Given the description of an element on the screen output the (x, y) to click on. 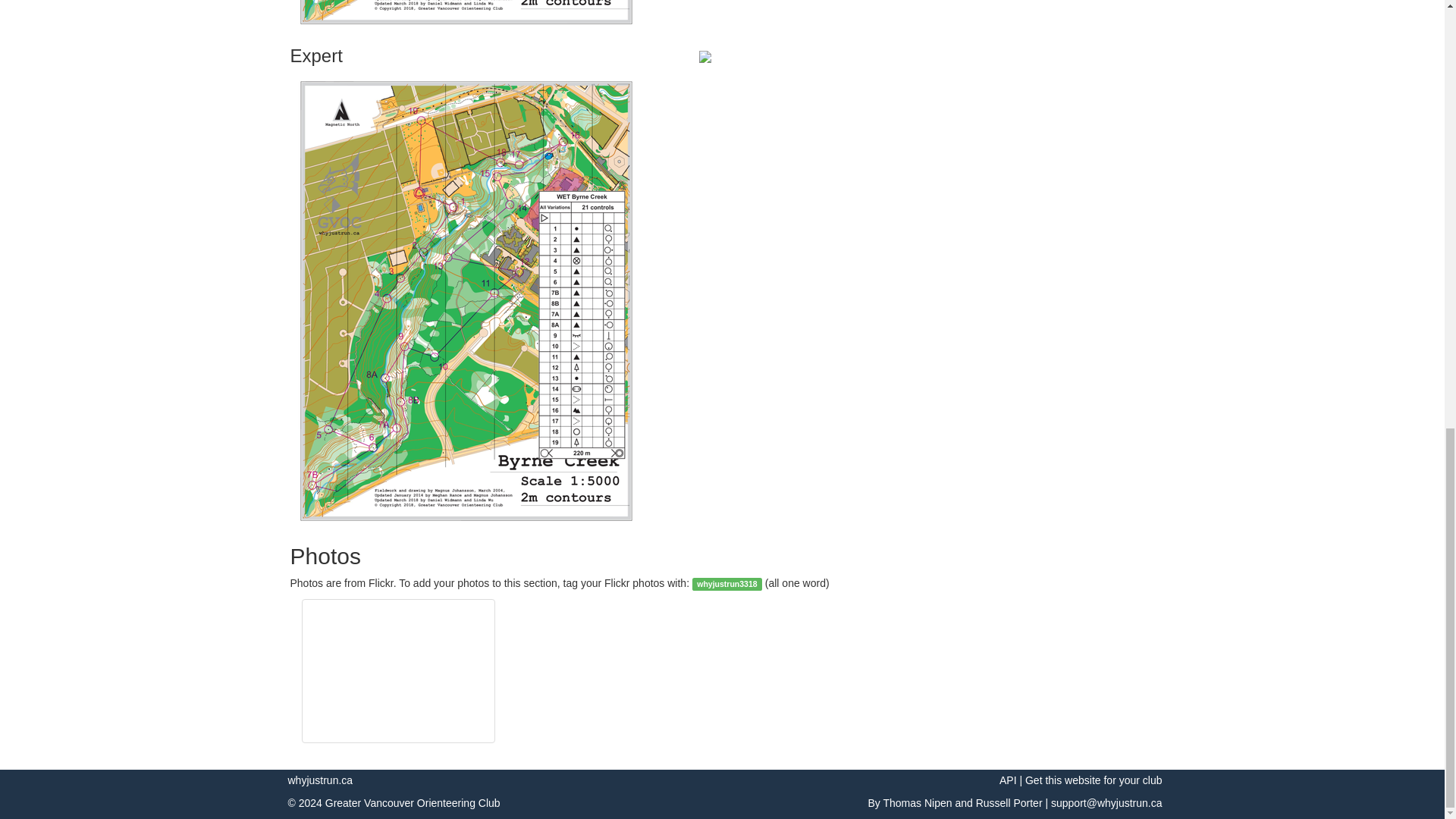
Thomas Nipen (917, 802)
Russell Porter (1008, 802)
API (1007, 779)
Get this website for your club (1093, 779)
whyjustrun.ca (320, 779)
